Given the description of an element on the screen output the (x, y) to click on. 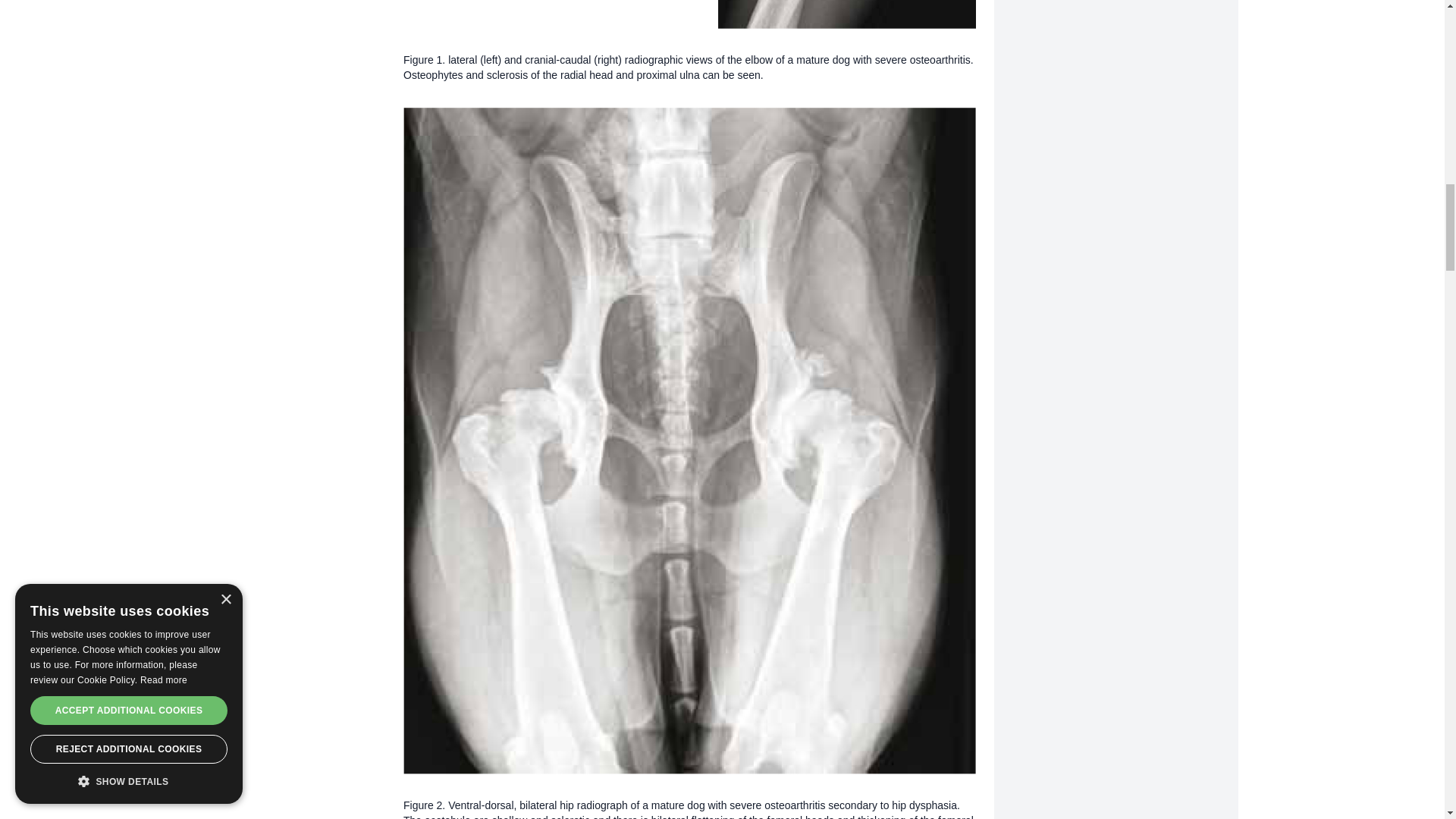
3rd party ad content (1116, 44)
